Given the description of an element on the screen output the (x, y) to click on. 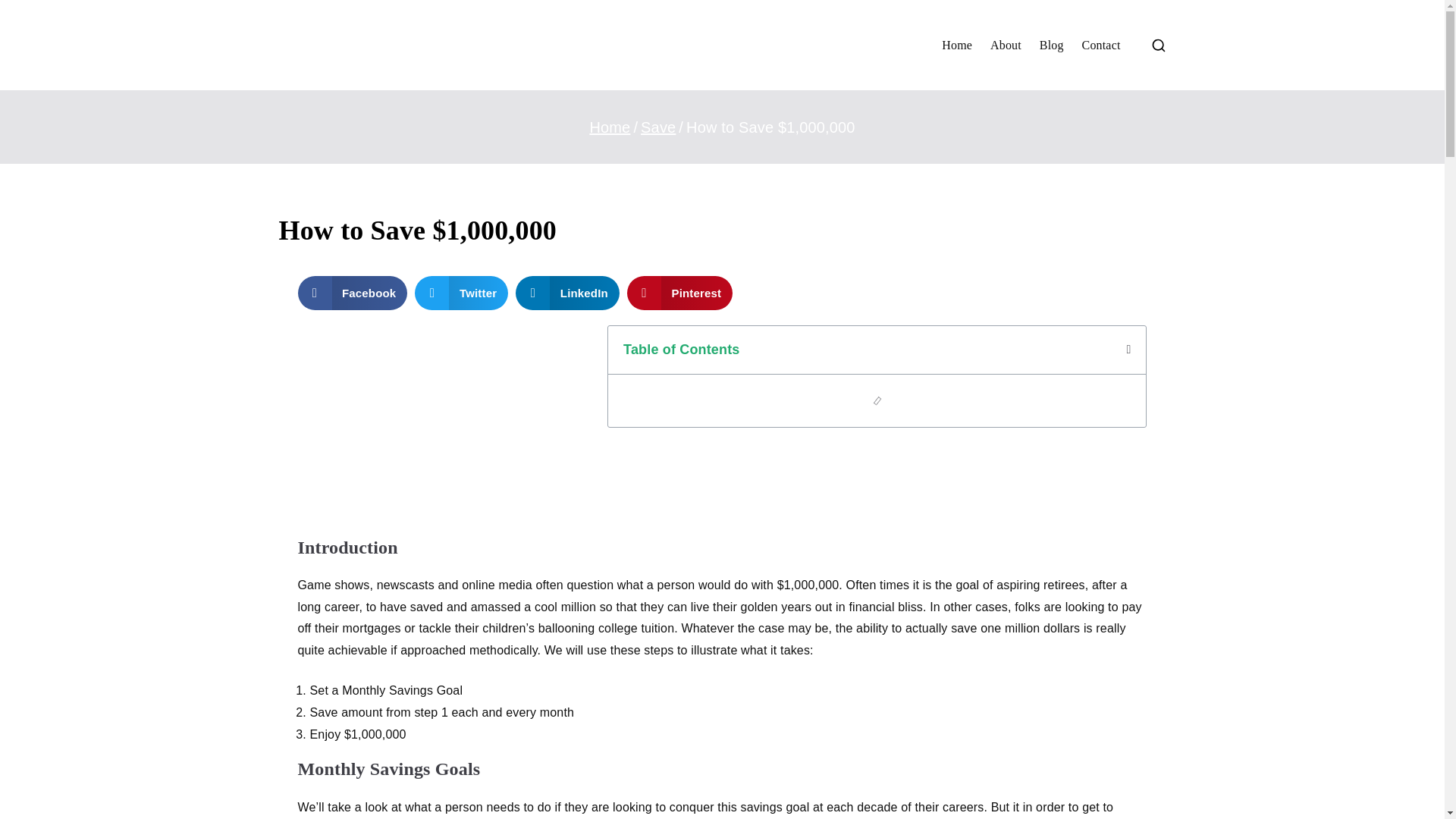
About (1006, 45)
Blog (1051, 45)
Home (609, 126)
Save (657, 126)
Search (26, 12)
Data Driven Money (842, 63)
Contact (1101, 45)
Home (957, 45)
